Given the description of an element on the screen output the (x, y) to click on. 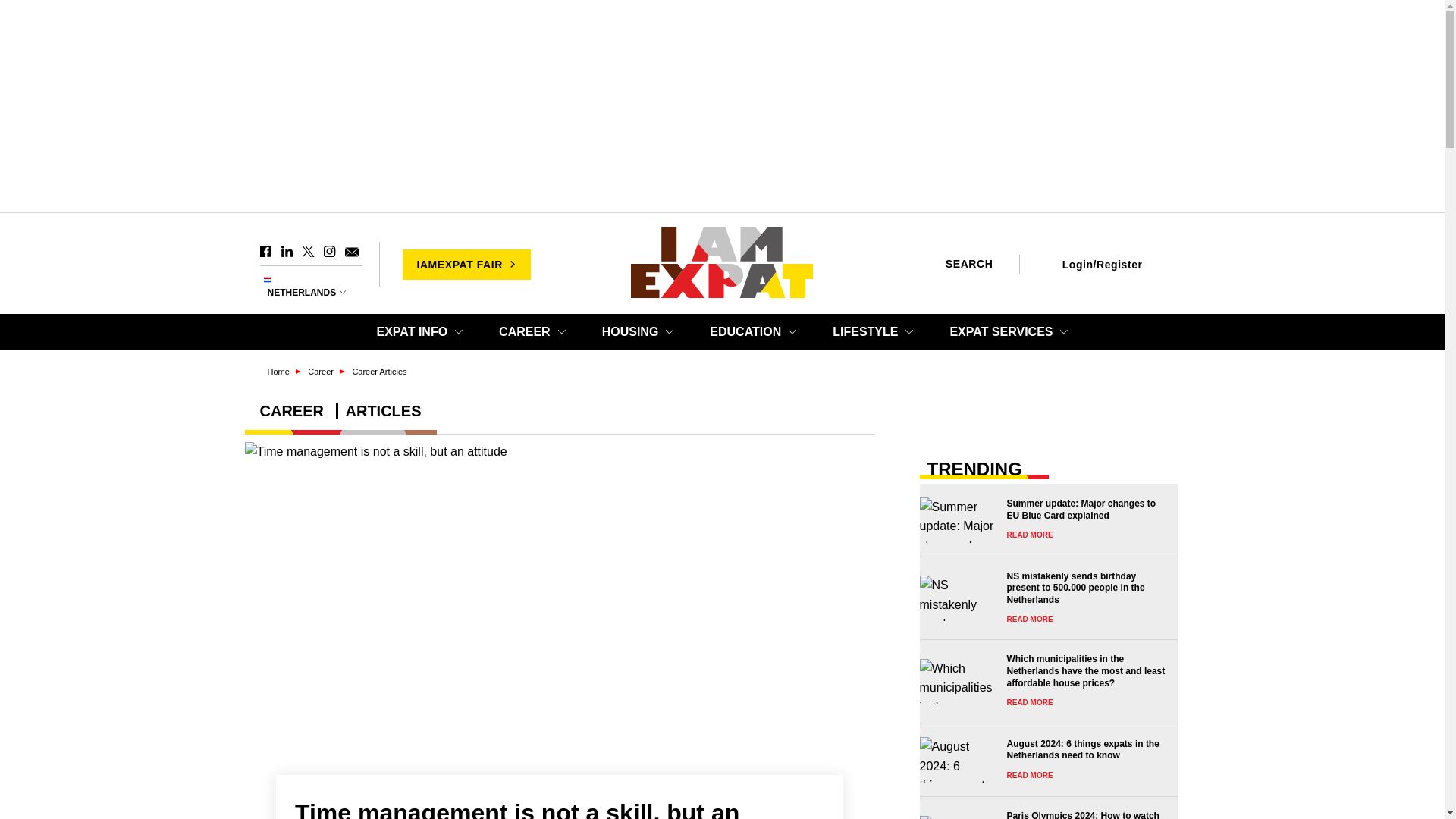
Home (721, 263)
IamExpat fair (465, 263)
August 2024: 6 things expats in the Netherlands need to know (1043, 759)
EXPAT INFO (419, 331)
Summer update: Major changes to EU Blue Card explained (1043, 519)
Twitter (307, 251)
